Given the description of an element on the screen output the (x, y) to click on. 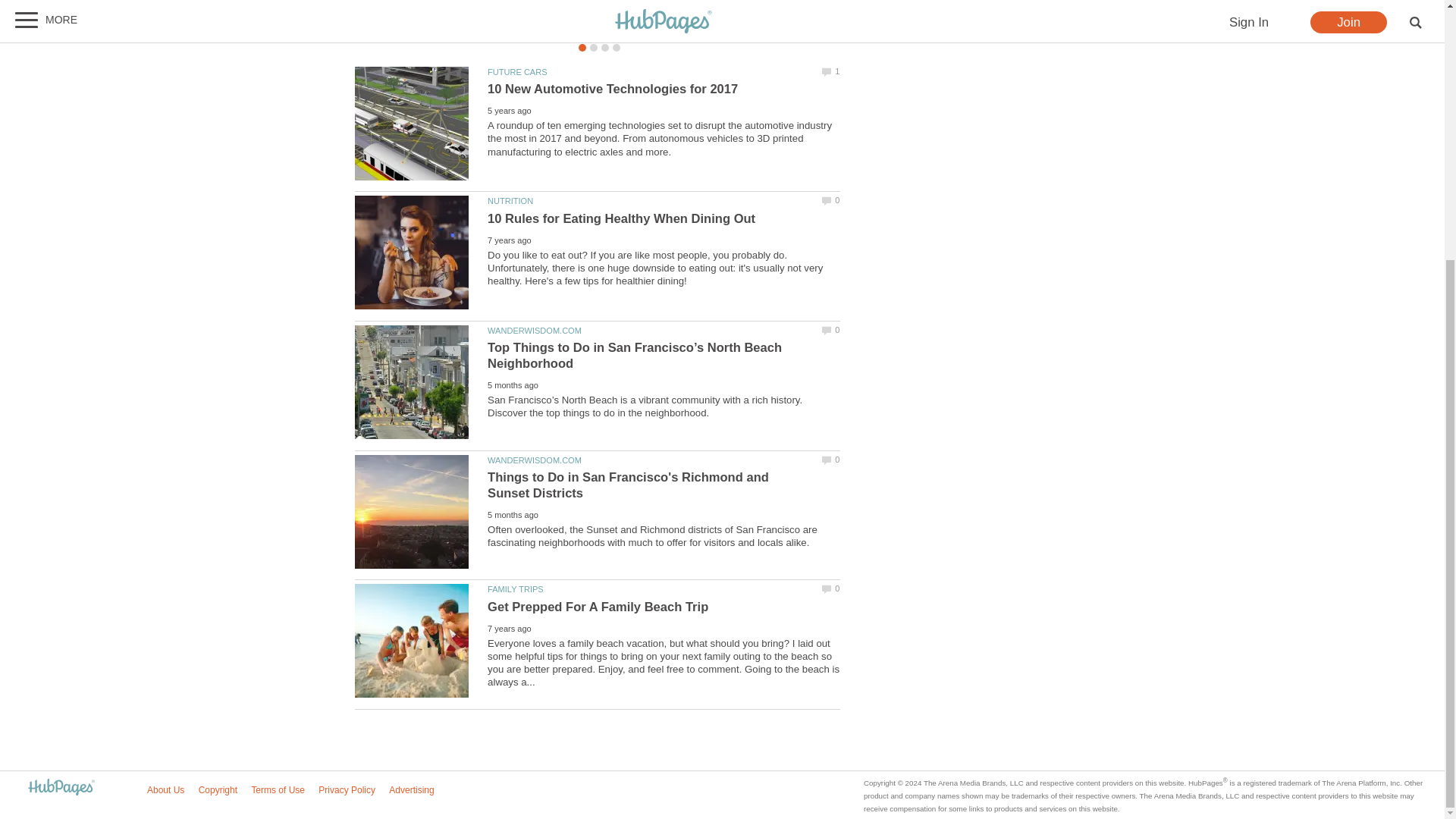
10 Rules for Eating Healthy When Dining Out (411, 252)
10 Rules for Eating Healthy When Dining Out (621, 218)
10 New Automotive Technologies for 2017 (612, 88)
To the HubPages home page (60, 787)
10 New Automotive Technologies for 2017 (411, 123)
Get Prepped For A Family Beach Trip (411, 640)
WANDERWISDOM.COM (533, 329)
FUTURE CARS (517, 71)
WANDERWISDOM.COM (533, 460)
NUTRITION (509, 200)
